Given the description of an element on the screen output the (x, y) to click on. 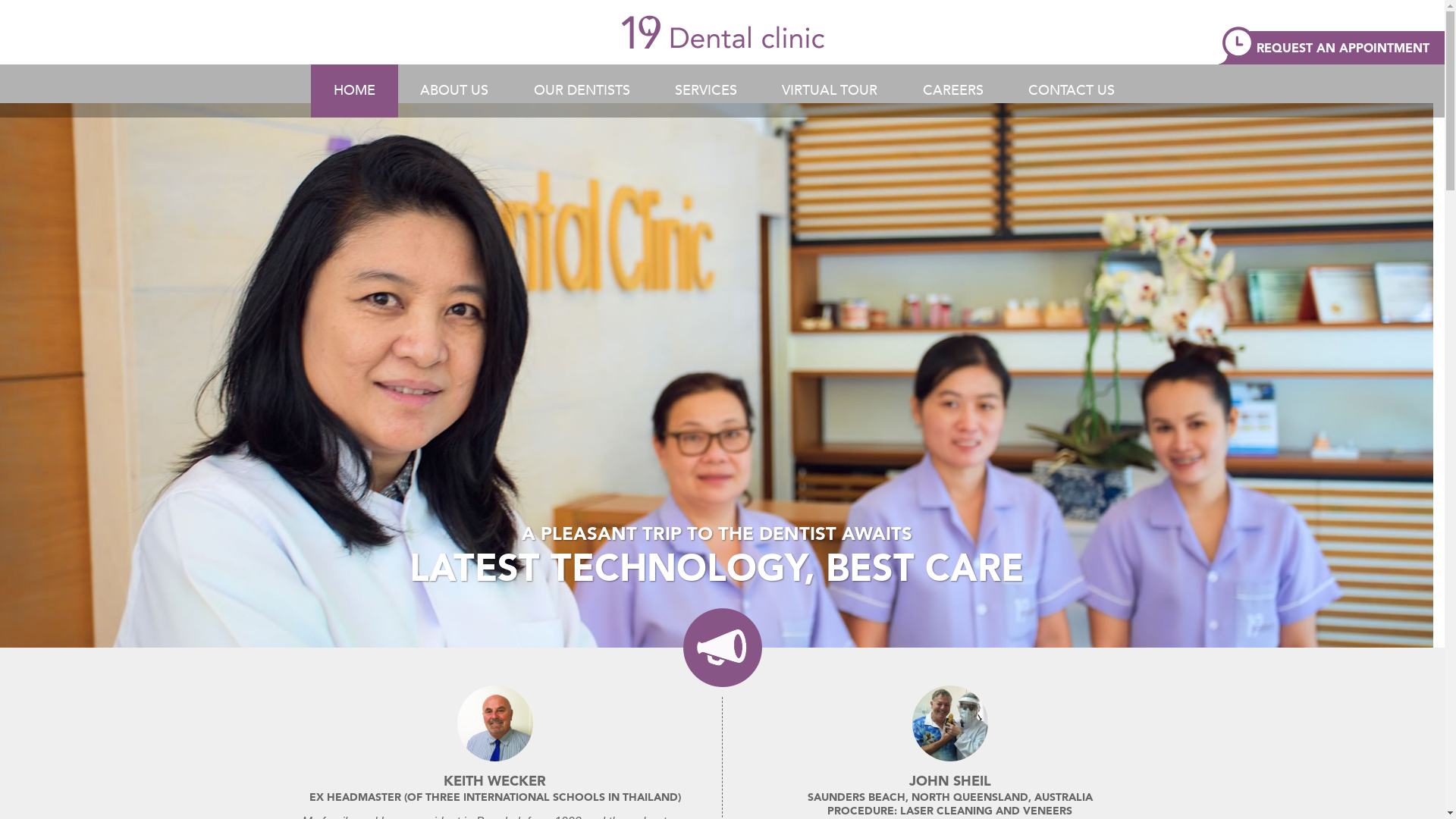
HOME Element type: text (354, 90)
19 Dental Clinic Element type: hover (722, 31)
OUR DENTISTS Element type: text (581, 90)
CAREERS Element type: text (953, 90)
ABOUT US Element type: text (454, 90)
CONTACT US Element type: text (1071, 90)
SERVICES Element type: text (705, 90)
REQUEST AN APPOINTMENT Element type: text (1331, 45)
VIRTUAL TOUR Element type: text (829, 90)
